Given the description of an element on the screen output the (x, y) to click on. 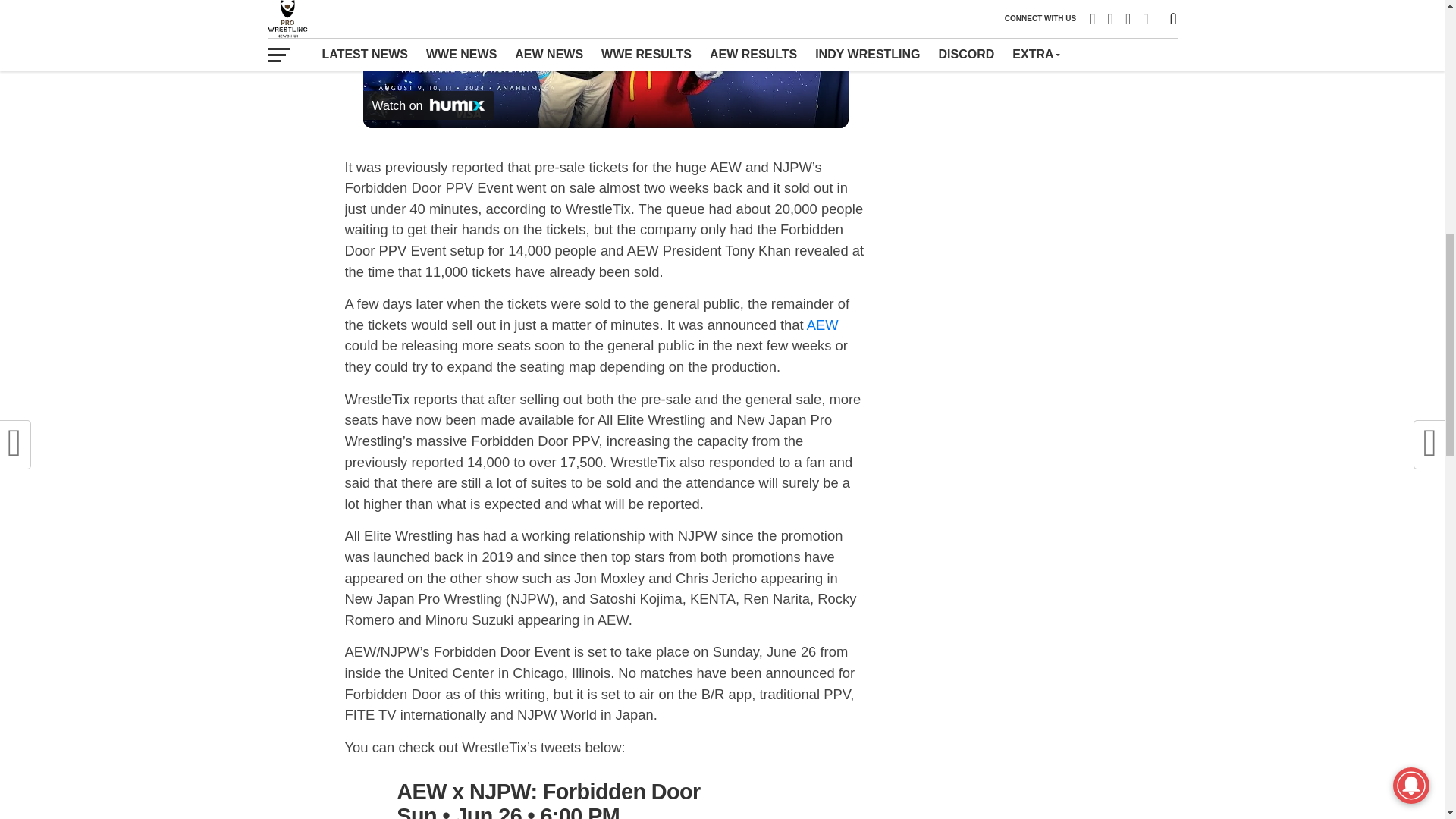
AEW (822, 324)
Play Video (604, 7)
